Given the description of an element on the screen output the (x, y) to click on. 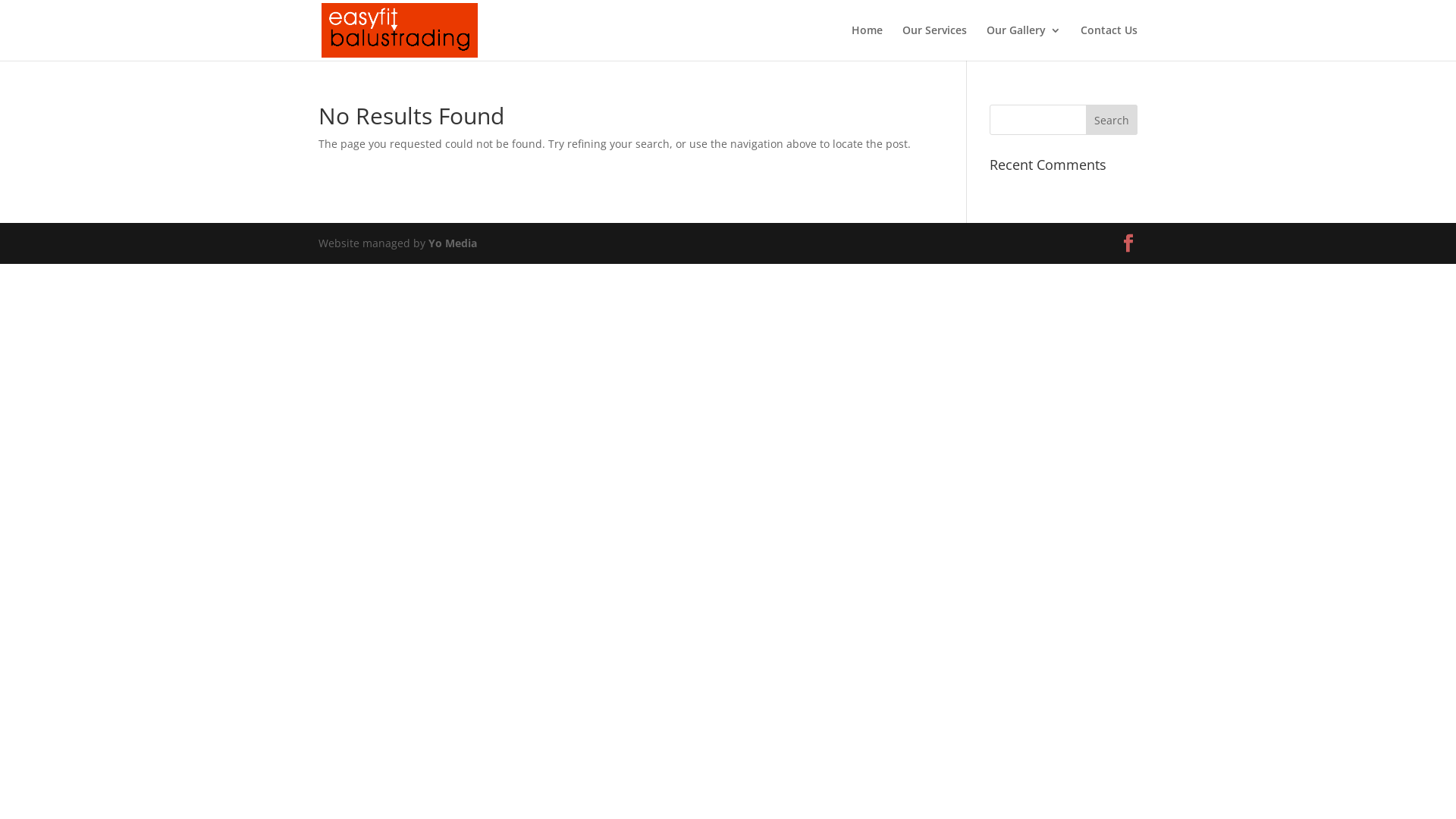
Contact Us Element type: text (1108, 42)
Yo Media Element type: text (452, 242)
Home Element type: text (866, 42)
Our Gallery Element type: text (1023, 42)
Search Element type: text (1111, 119)
Our Services Element type: text (934, 42)
